Given the description of an element on the screen output the (x, y) to click on. 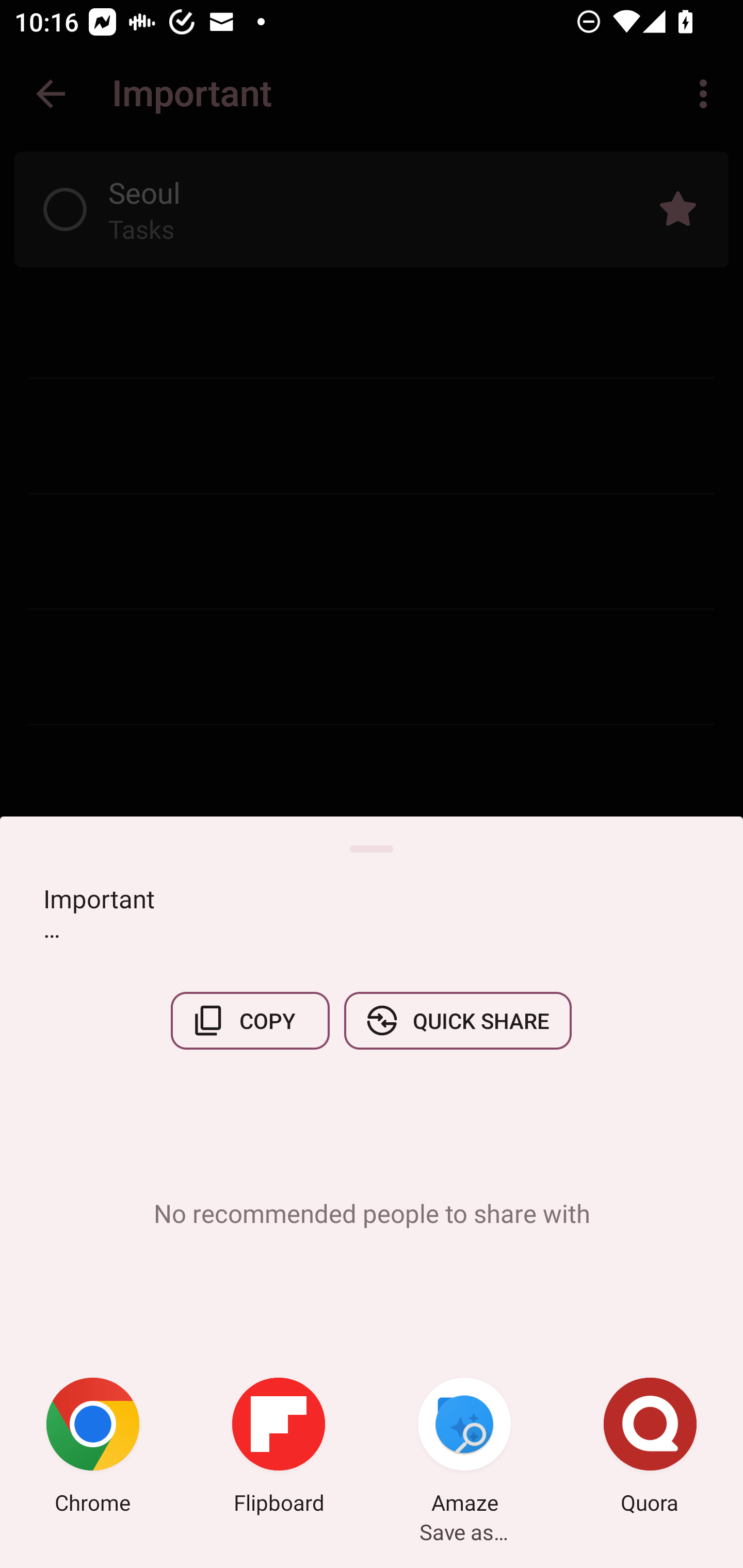
COPY (249, 1020)
QUICK SHARE (457, 1020)
Chrome (92, 1448)
Flipboard (278, 1448)
Amaze Save as… (464, 1448)
Quora (650, 1448)
